Given the description of an element on the screen output the (x, y) to click on. 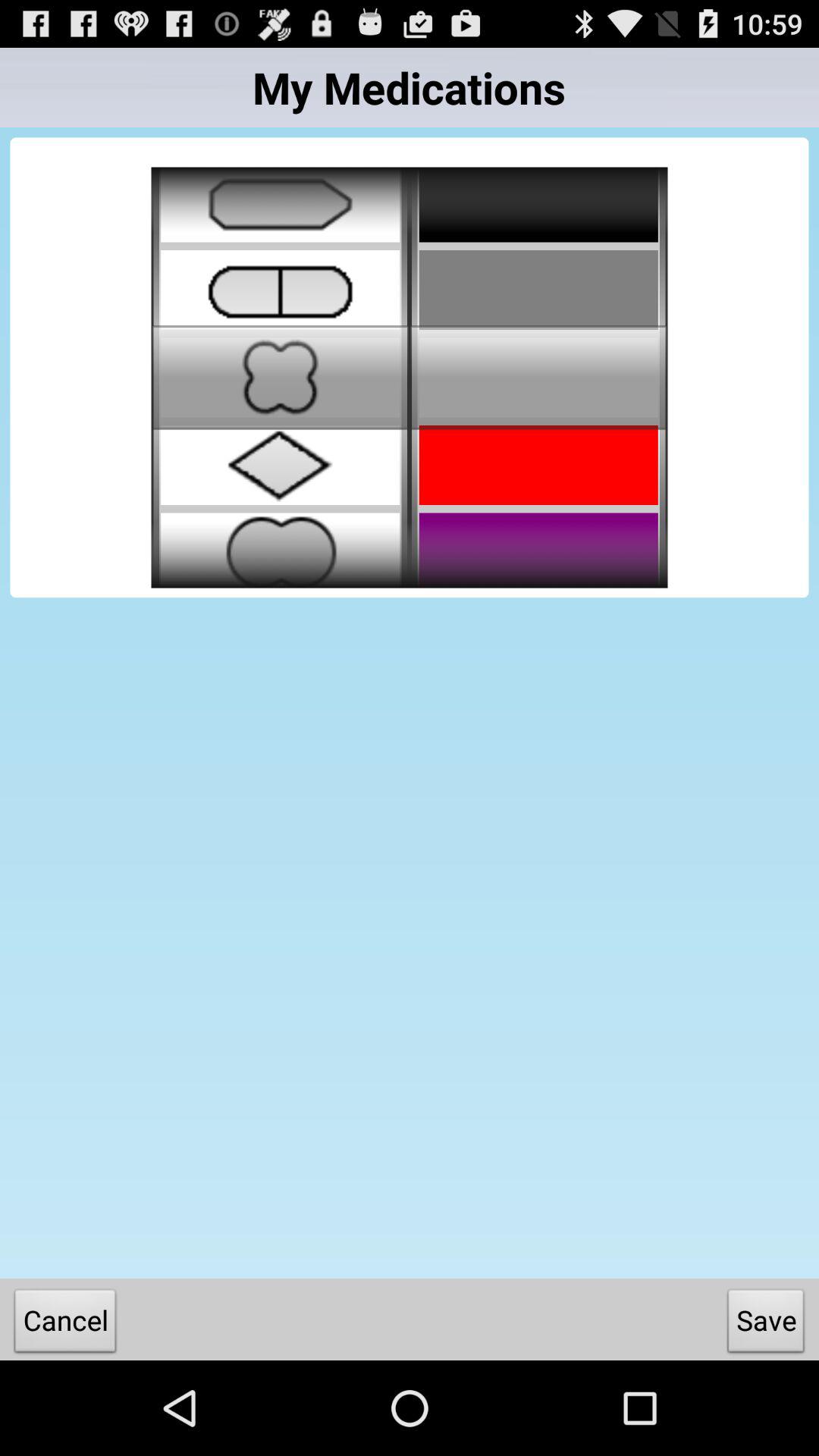
press save button (765, 1324)
